Given the description of an element on the screen output the (x, y) to click on. 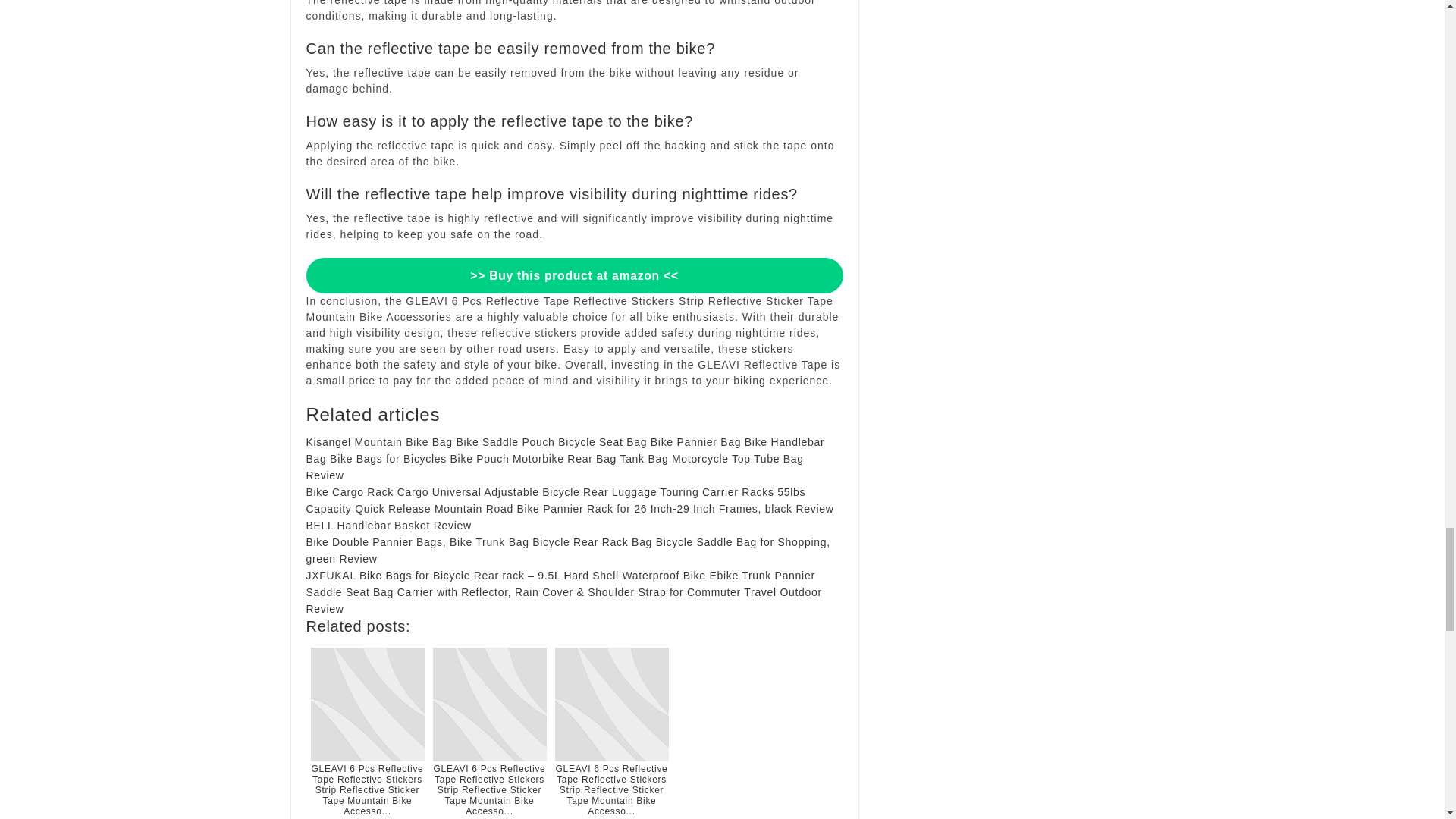
BELL Handlebar Basket Review (388, 525)
BELL Handlebar Basket Review (388, 525)
